Given the description of an element on the screen output the (x, y) to click on. 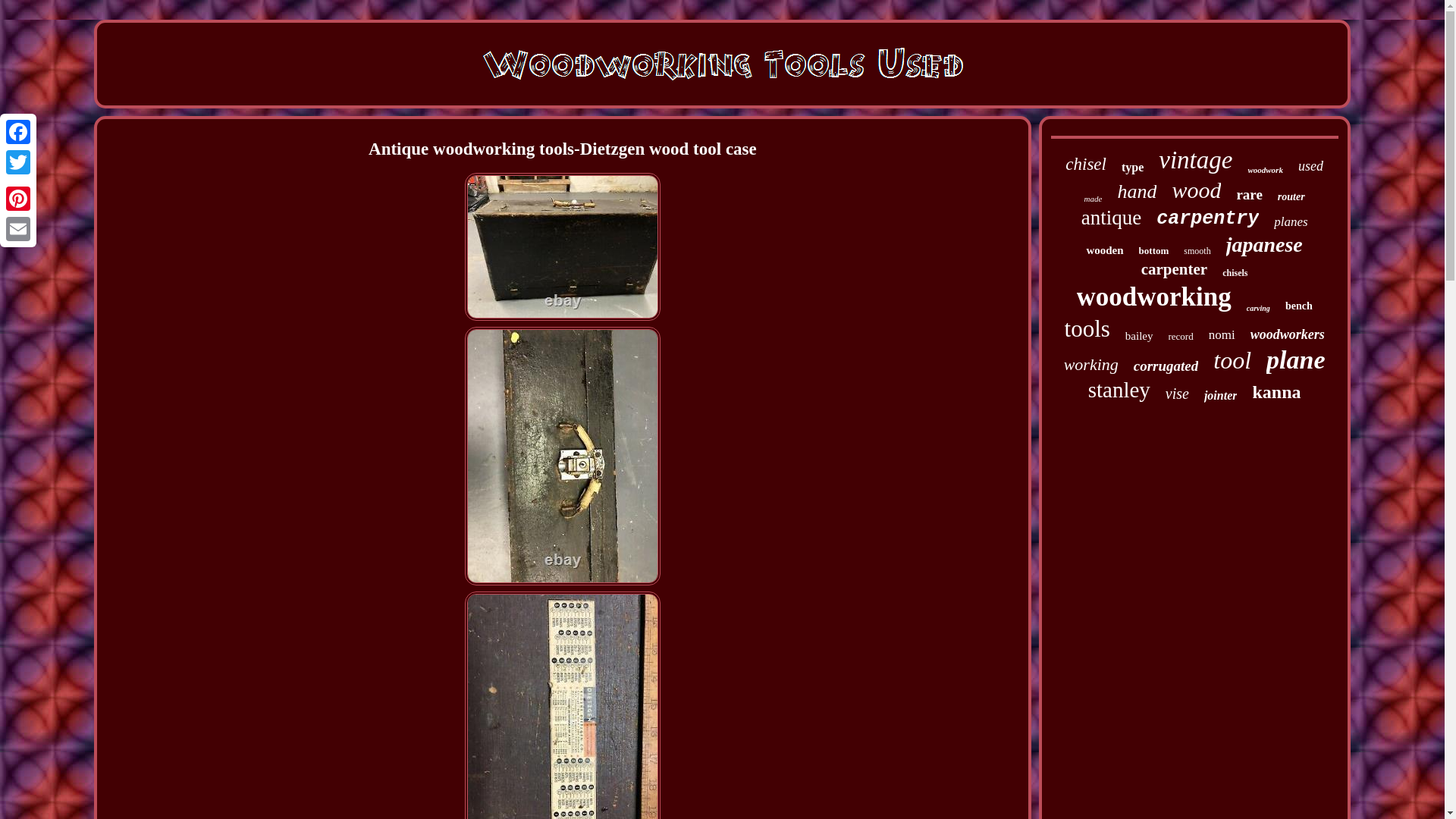
router (1291, 196)
bench (1299, 306)
record (1179, 336)
working (1091, 364)
hand (1136, 191)
carpenter (1174, 269)
Twitter (17, 162)
used (1310, 166)
wood (1196, 190)
woodworking (1154, 296)
